Given the description of an element on the screen output the (x, y) to click on. 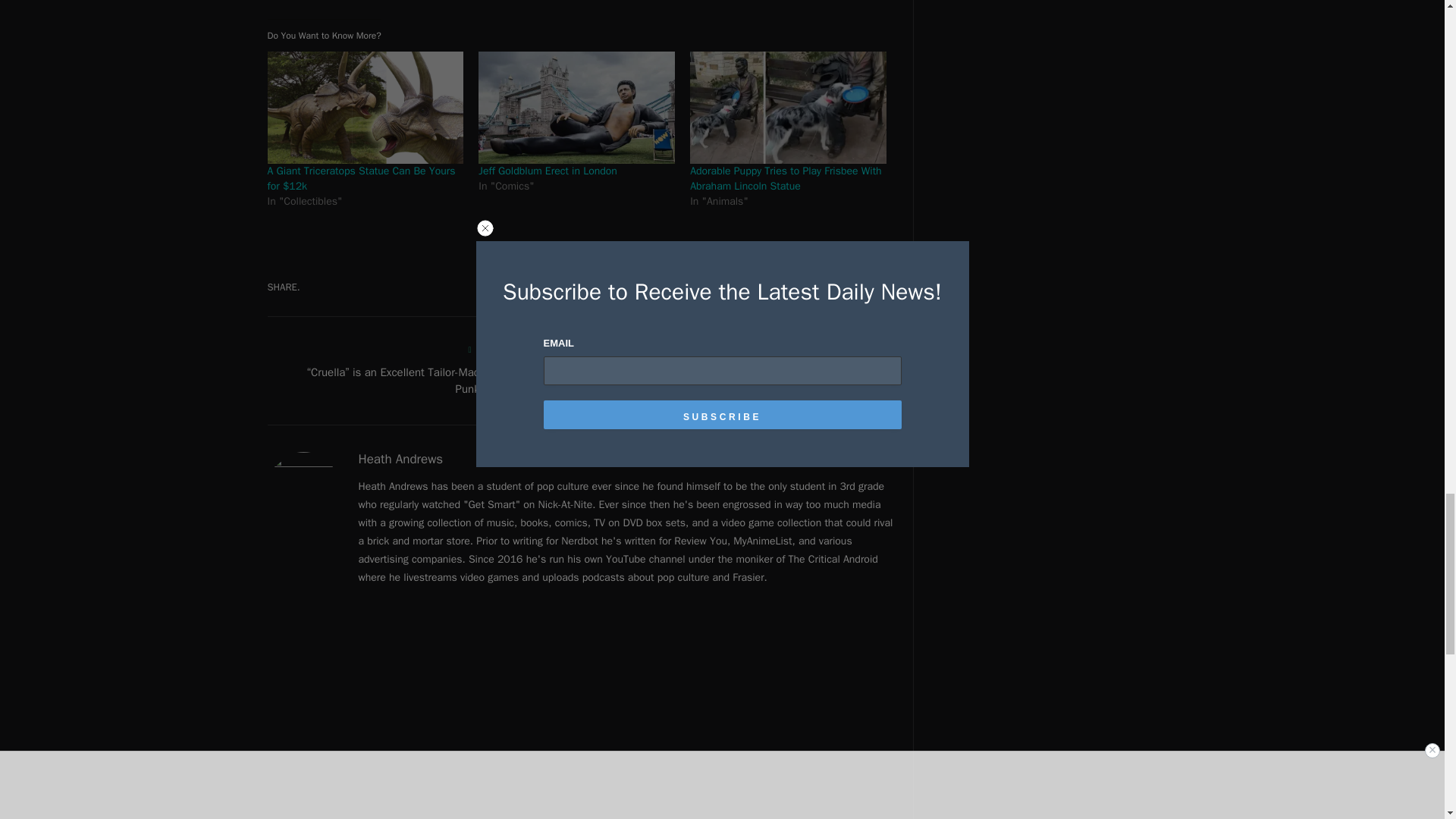
Jeff Goldblum Erect in London (548, 170)
Jeff Goldblum Erect in London (577, 107)
